Given the description of an element on the screen output the (x, y) to click on. 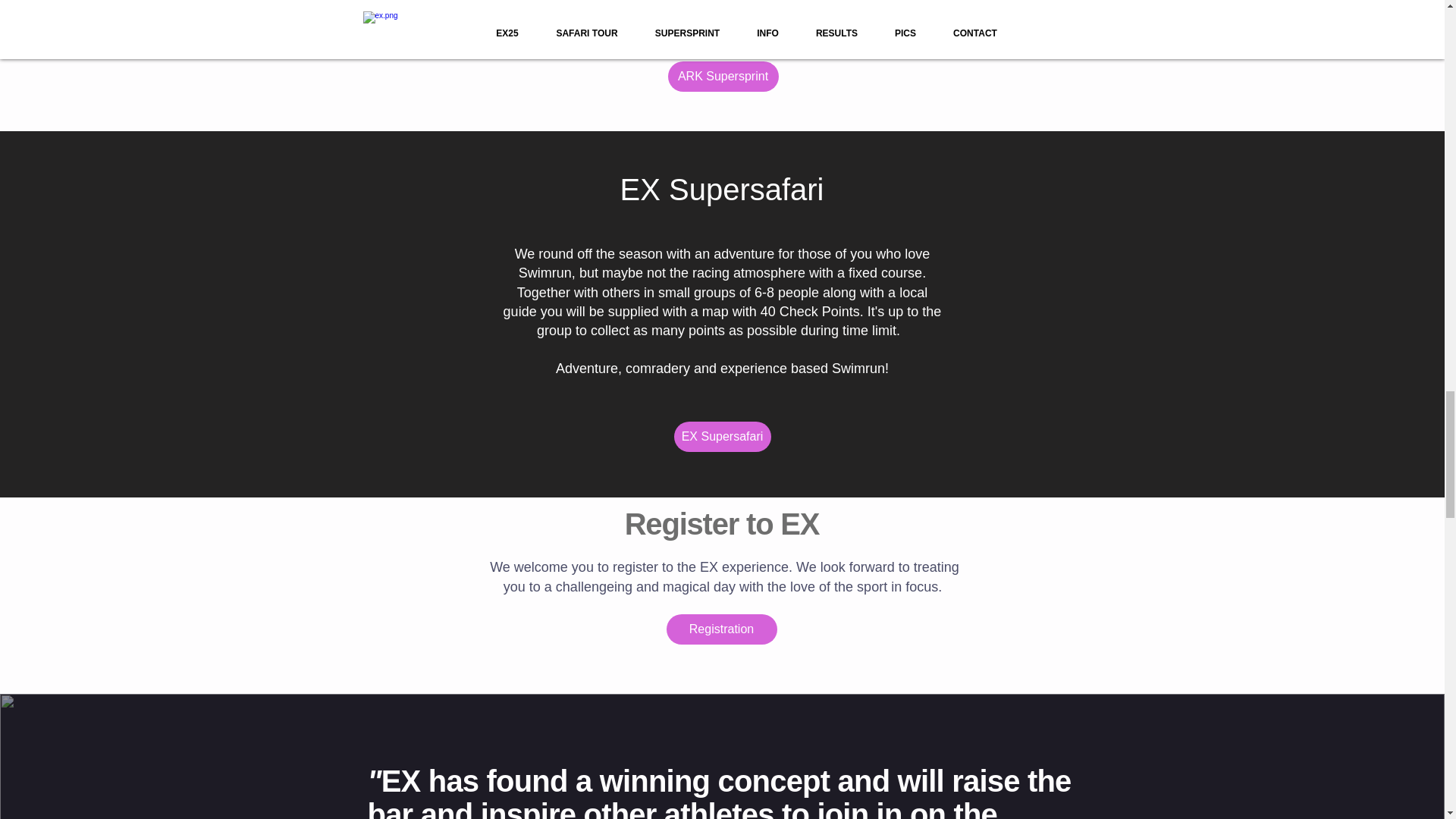
ARK Supersprint (721, 76)
EX Supersafari (721, 436)
Registration (720, 629)
